Given the description of an element on the screen output the (x, y) to click on. 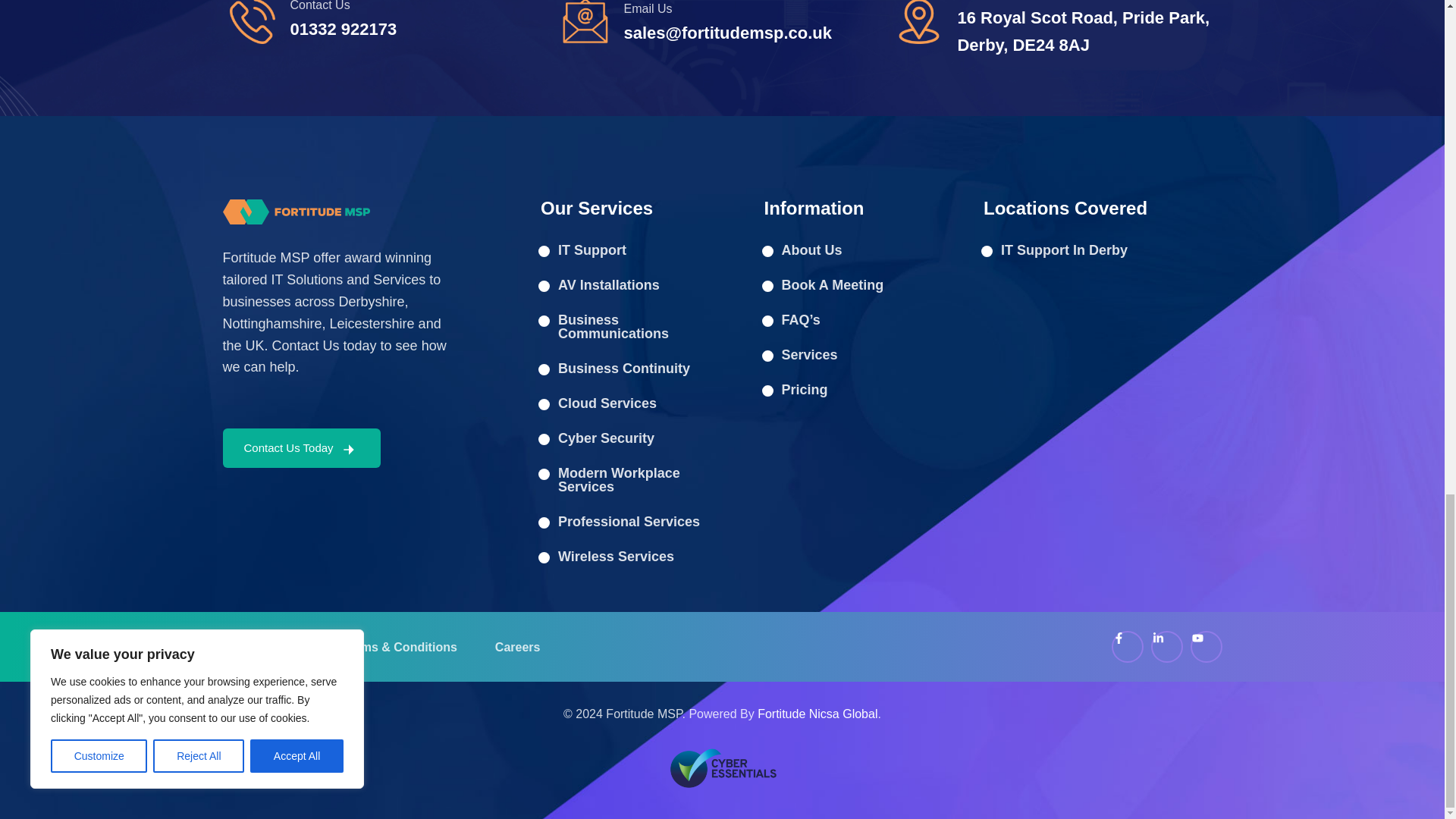
Business Communications (629, 326)
IT Support (629, 249)
01332 922173 (342, 29)
Business Continuity (629, 368)
Contact Us Today (301, 447)
AV Installations (629, 284)
